Given the description of an element on the screen output the (x, y) to click on. 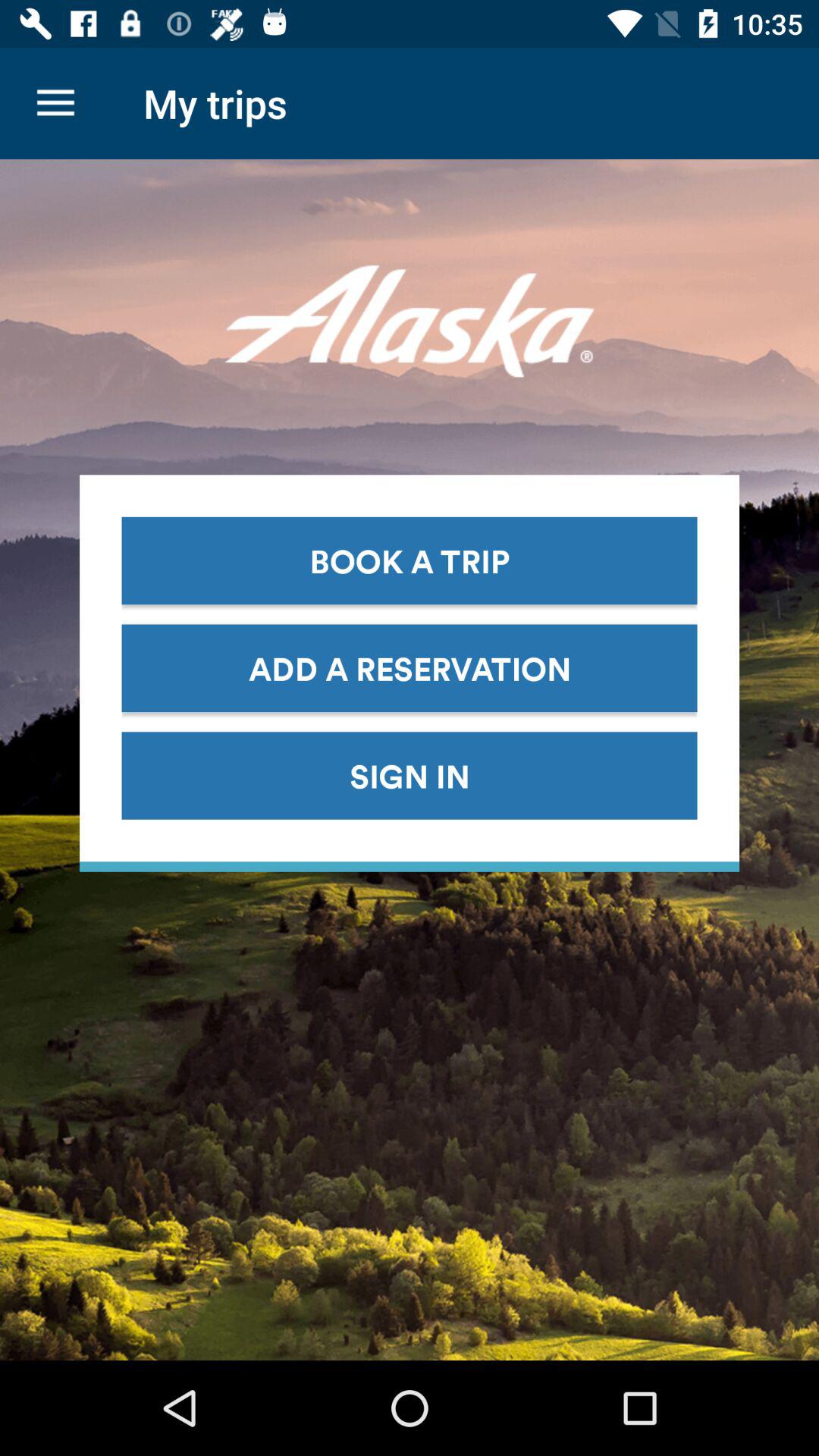
turn off the add a reservation icon (409, 668)
